Given the description of an element on the screen output the (x, y) to click on. 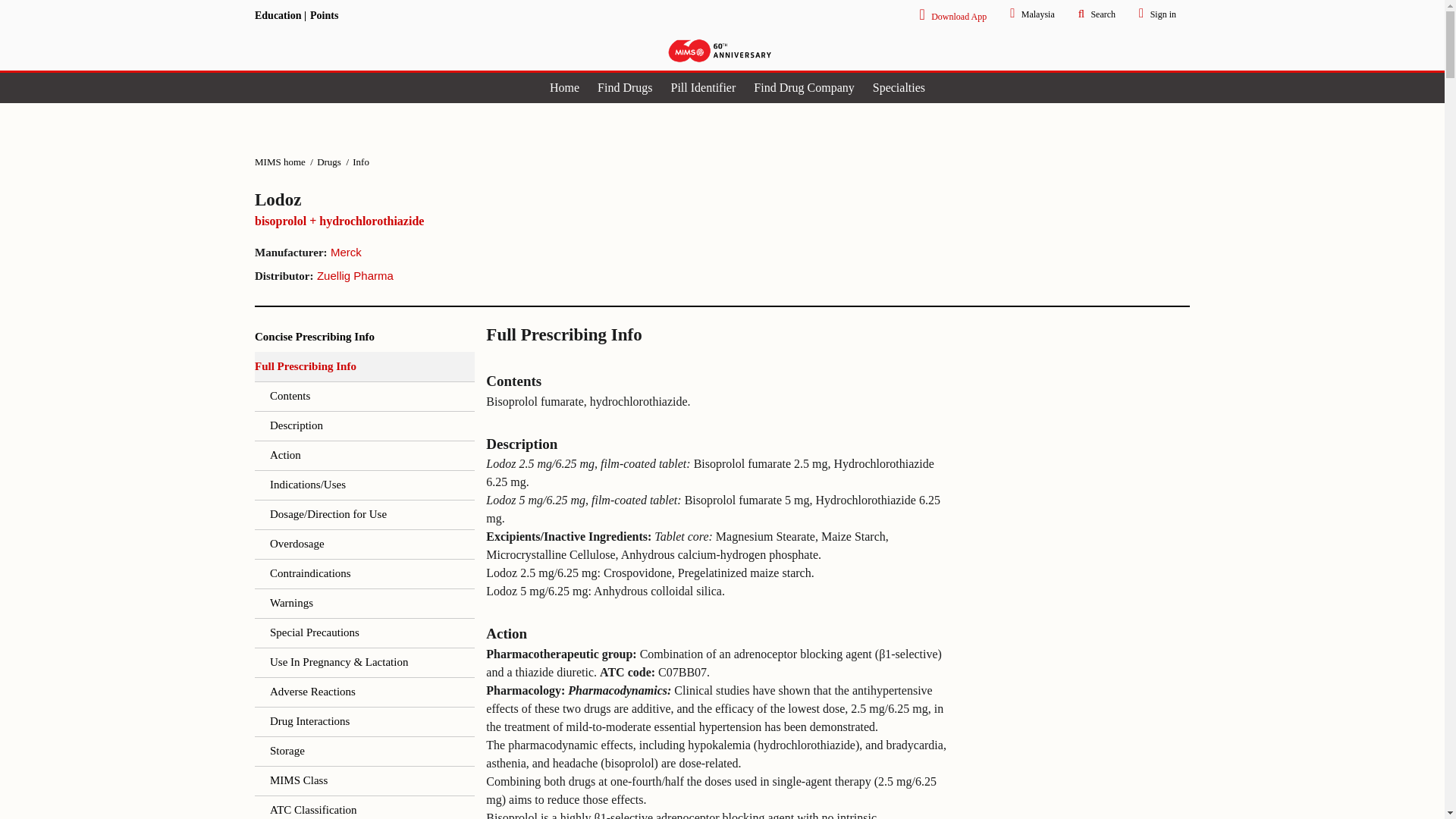
Download App (951, 13)
Malaysia (1029, 12)
Search (1094, 12)
Back to MIMS Homepage (719, 49)
Brand (560, 200)
Sign in (1155, 12)
Points (323, 15)
